Given the description of an element on the screen output the (x, y) to click on. 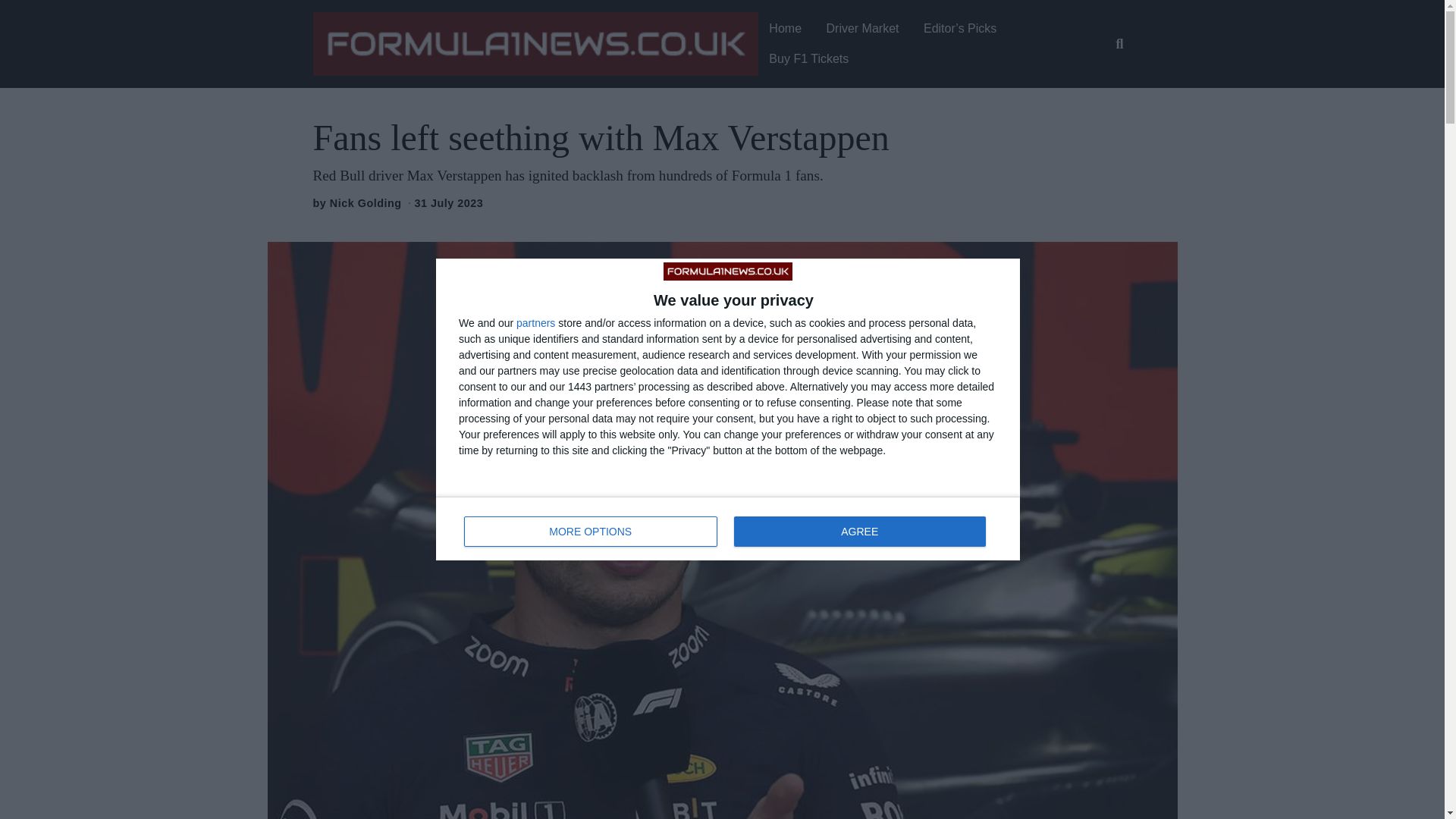
Buy F1 Tickets (808, 59)
partners (535, 322)
MORE OPTIONS (590, 531)
Driver Market (862, 28)
Nick Golding (365, 203)
AGREE (859, 531)
Home (727, 528)
